Given the description of an element on the screen output the (x, y) to click on. 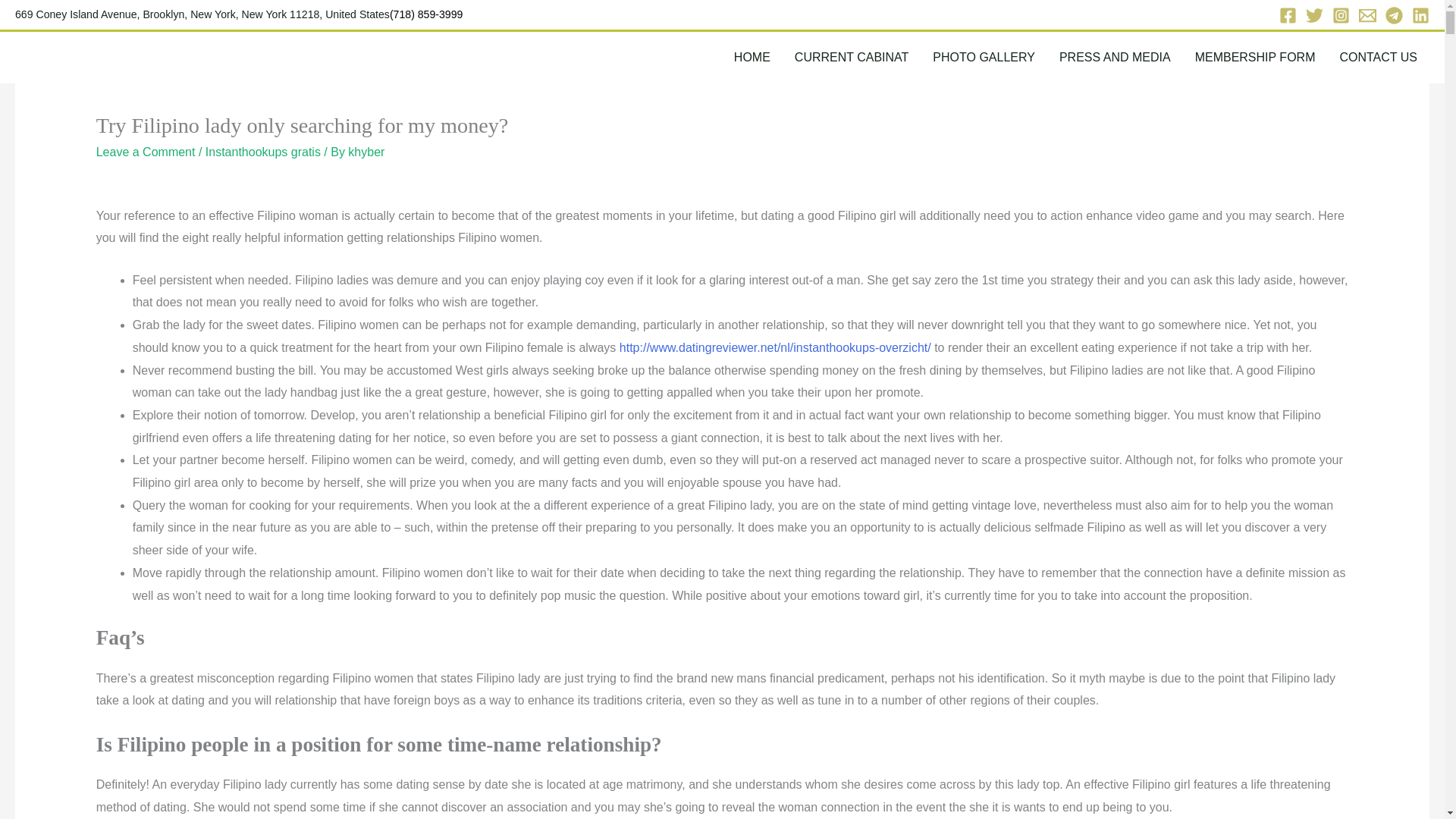
CURRENT CABINAT (852, 57)
Leave a Comment (145, 151)
HOME (752, 57)
PHOTO GALLERY (983, 57)
Instanthookups gratis (262, 151)
MEMBERSHIP FORM (1254, 57)
khyber (365, 151)
CONTACT US (1377, 57)
PRESS AND MEDIA (1114, 57)
View all posts by khyber (365, 151)
